Given the description of an element on the screen output the (x, y) to click on. 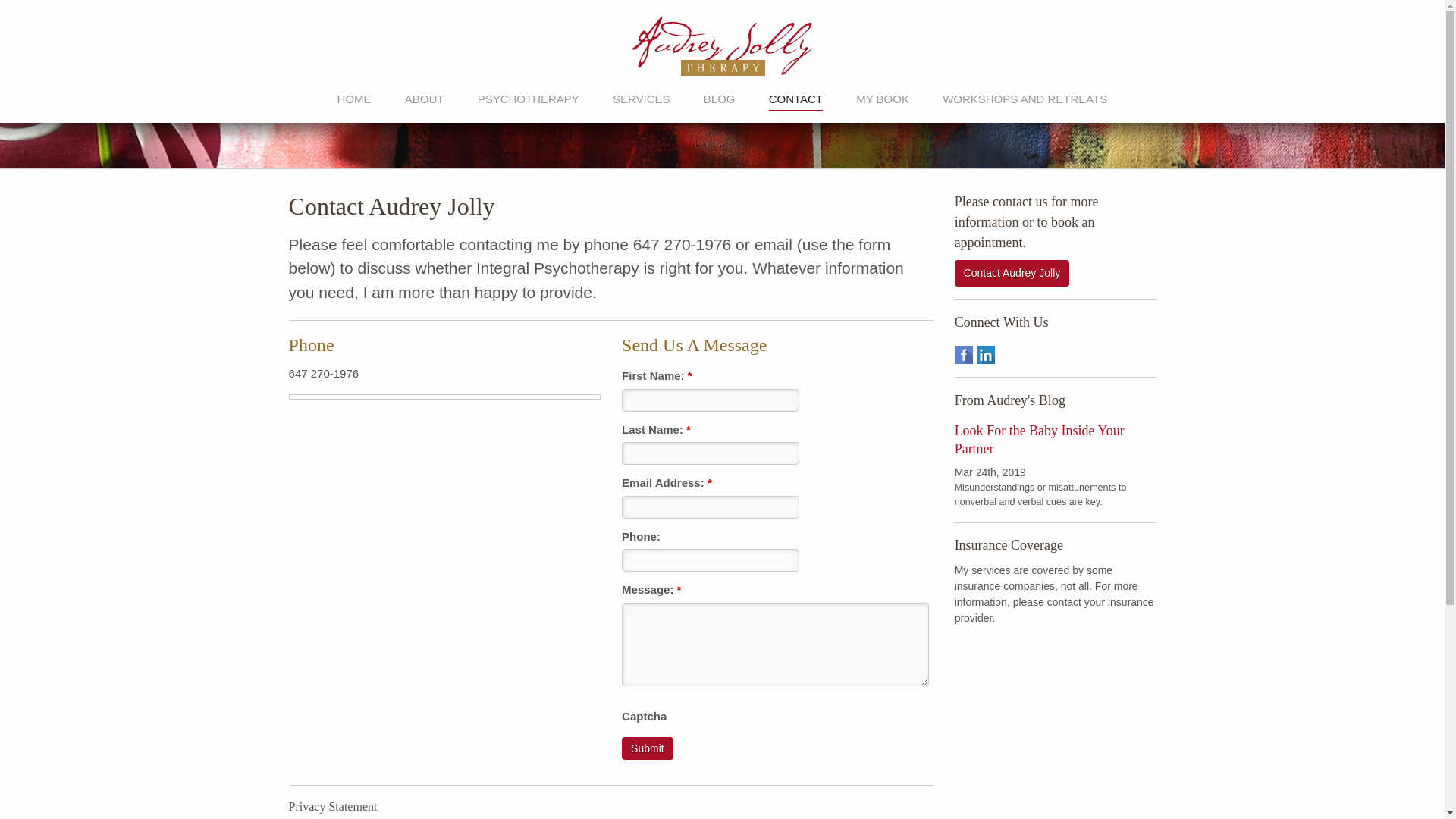
BLOG (719, 98)
Submit (646, 748)
Contact Audrey Jolly Integral Psychotherapy (795, 98)
Integral Psychotherapy Services, Audrey Jolly, MA, OSP (640, 98)
Look For the Baby Inside Your Partner (1039, 439)
SERVICES (640, 98)
MY BOOK (882, 98)
ABOUT (424, 98)
Submit (646, 748)
HOME (354, 98)
Contact Audrey Jolly (1012, 273)
About Audrey Jolly Therapy - Integral Psychotherapy Services (424, 98)
CONTACT (795, 98)
About Integral Psychotherpy by Audrey Jolly, MA, OSP (528, 98)
PSYCHOTHERAPY (528, 98)
